Given the description of an element on the screen output the (x, y) to click on. 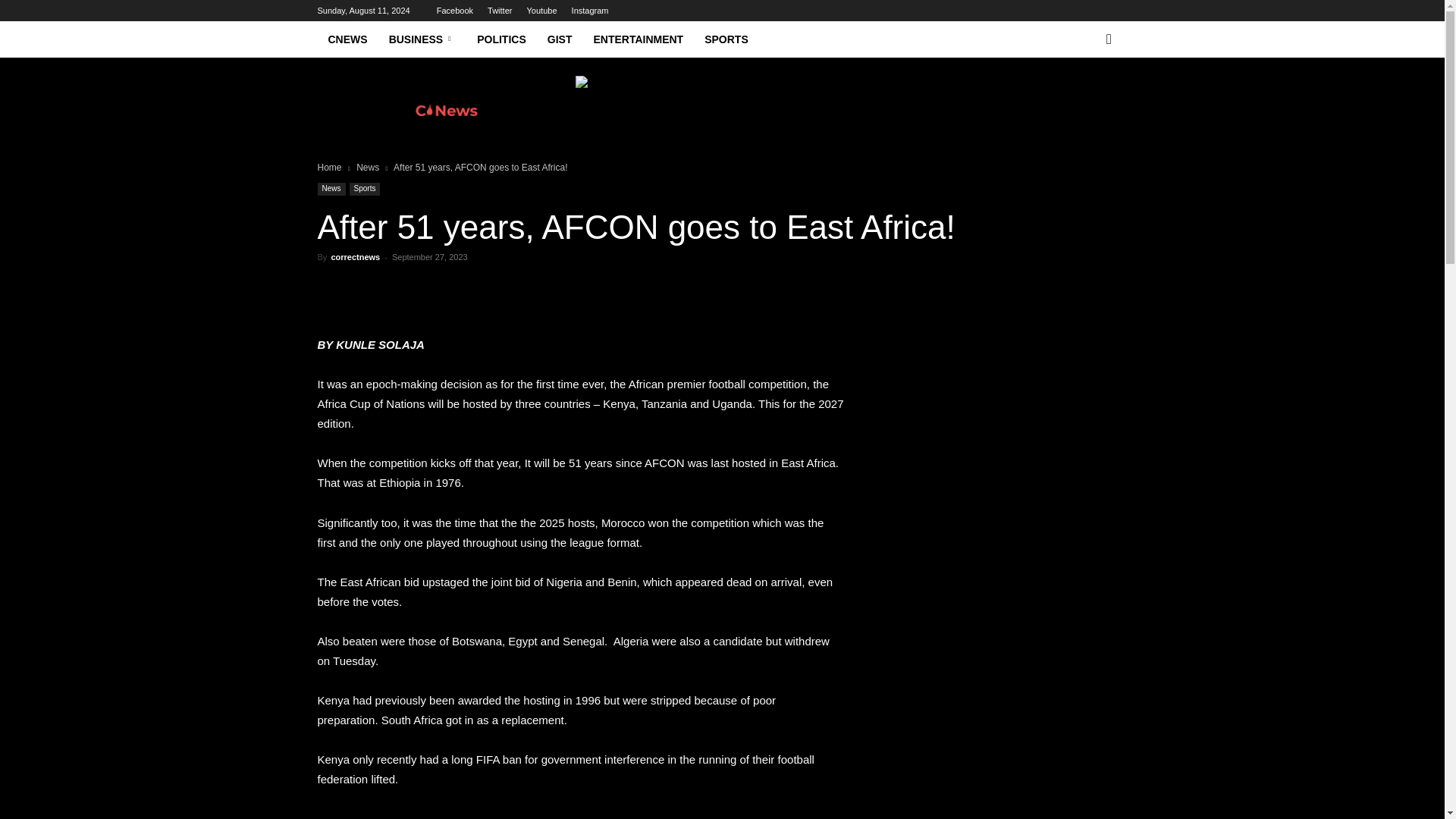
GIST (560, 39)
Instagram (590, 10)
Search (1085, 99)
Twitter (499, 10)
News (331, 188)
ENTERTAINMENT (638, 39)
Sports (364, 188)
correctnews (355, 256)
BUSINESS (422, 39)
SPORTS (726, 39)
